Given the description of an element on the screen output the (x, y) to click on. 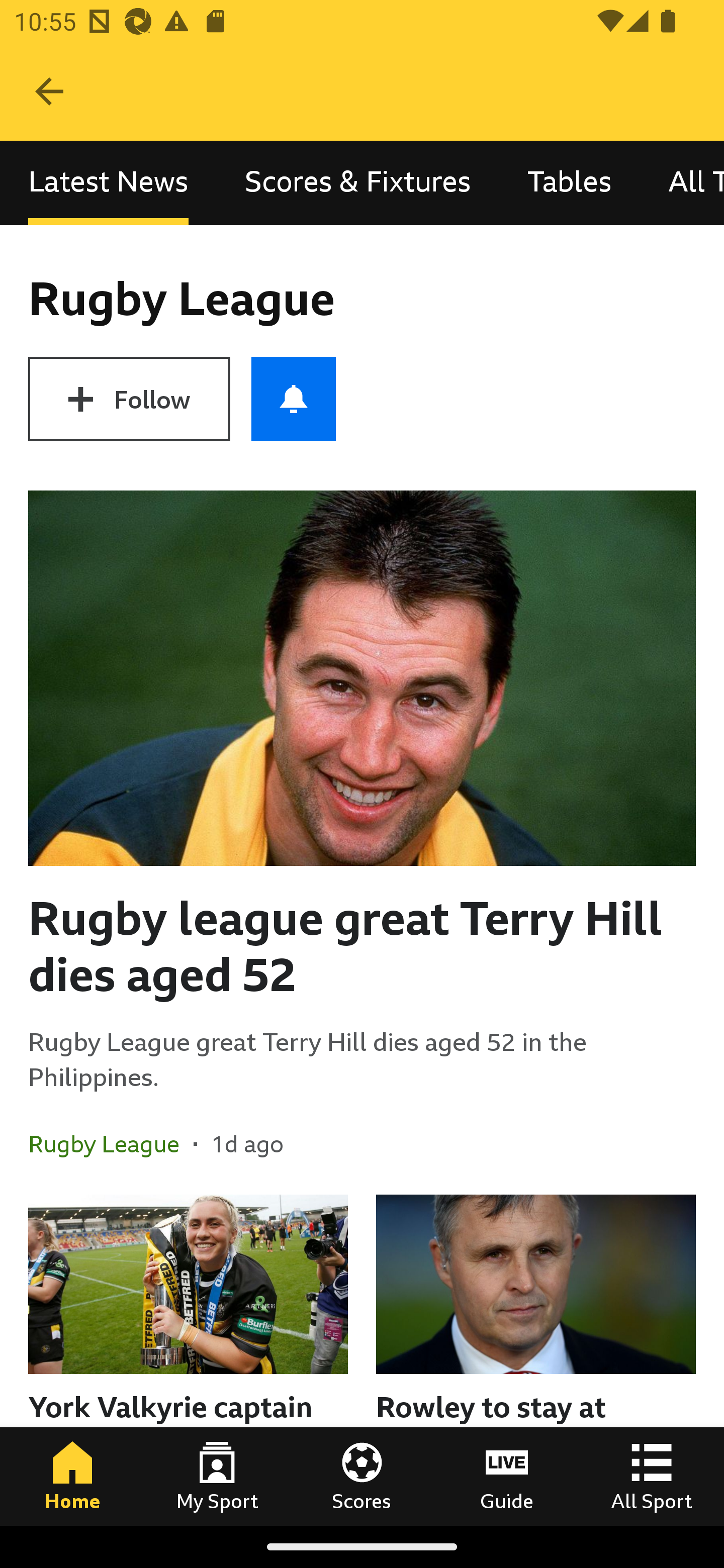
Navigate up (49, 91)
Latest News, selected Latest News (108, 183)
Scores & Fixtures (357, 183)
Tables (569, 183)
Follow Rugby League Follow (129, 398)
Push notifications for Rugby League (293, 398)
My Sport (216, 1475)
Scores (361, 1475)
Guide (506, 1475)
All Sport (651, 1475)
